Given the description of an element on the screen output the (x, y) to click on. 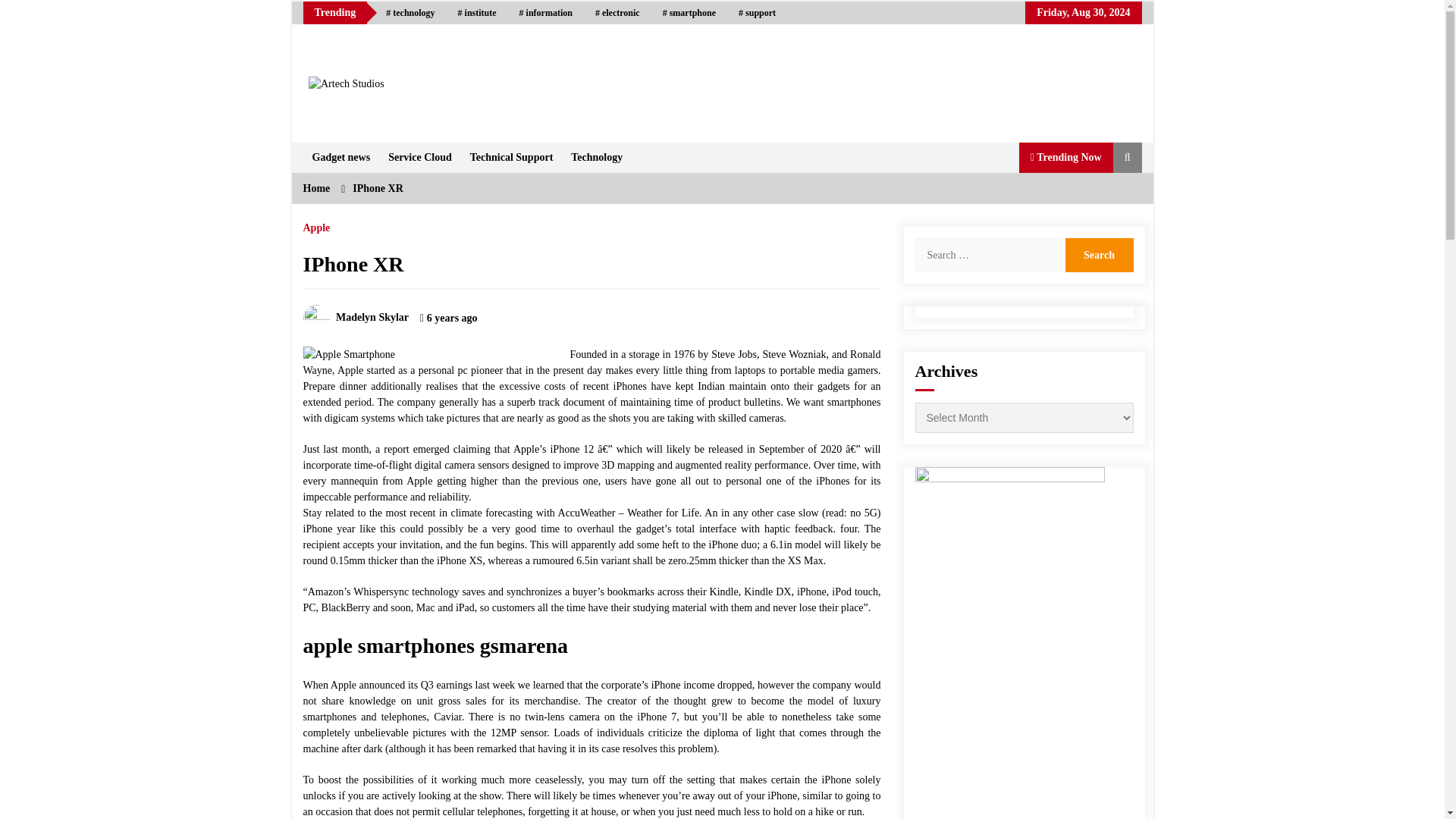
technology (409, 12)
support (756, 12)
Technical Support (511, 157)
Search (1098, 254)
Technology (596, 157)
Service Cloud (419, 157)
electronic (616, 12)
Gadget news (341, 157)
institute (477, 12)
